Given the description of an element on the screen output the (x, y) to click on. 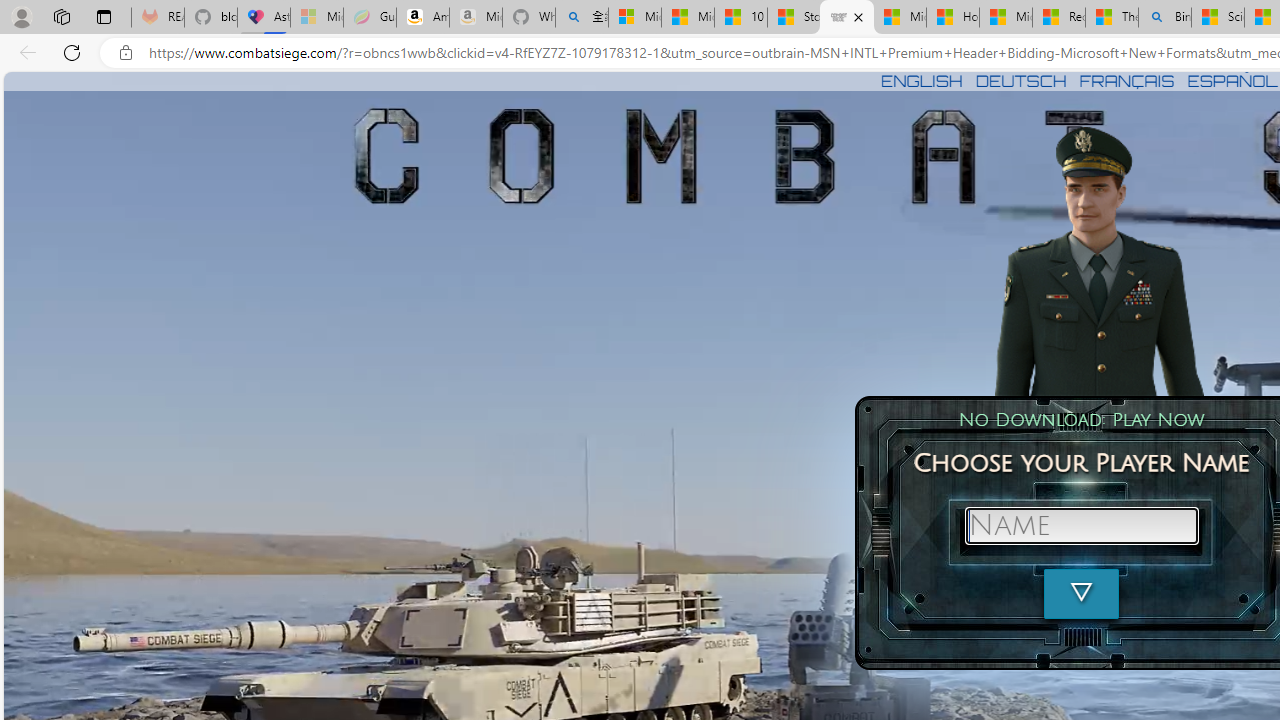
DEUTSCH (1021, 80)
